Given the description of an element on the screen output the (x, y) to click on. 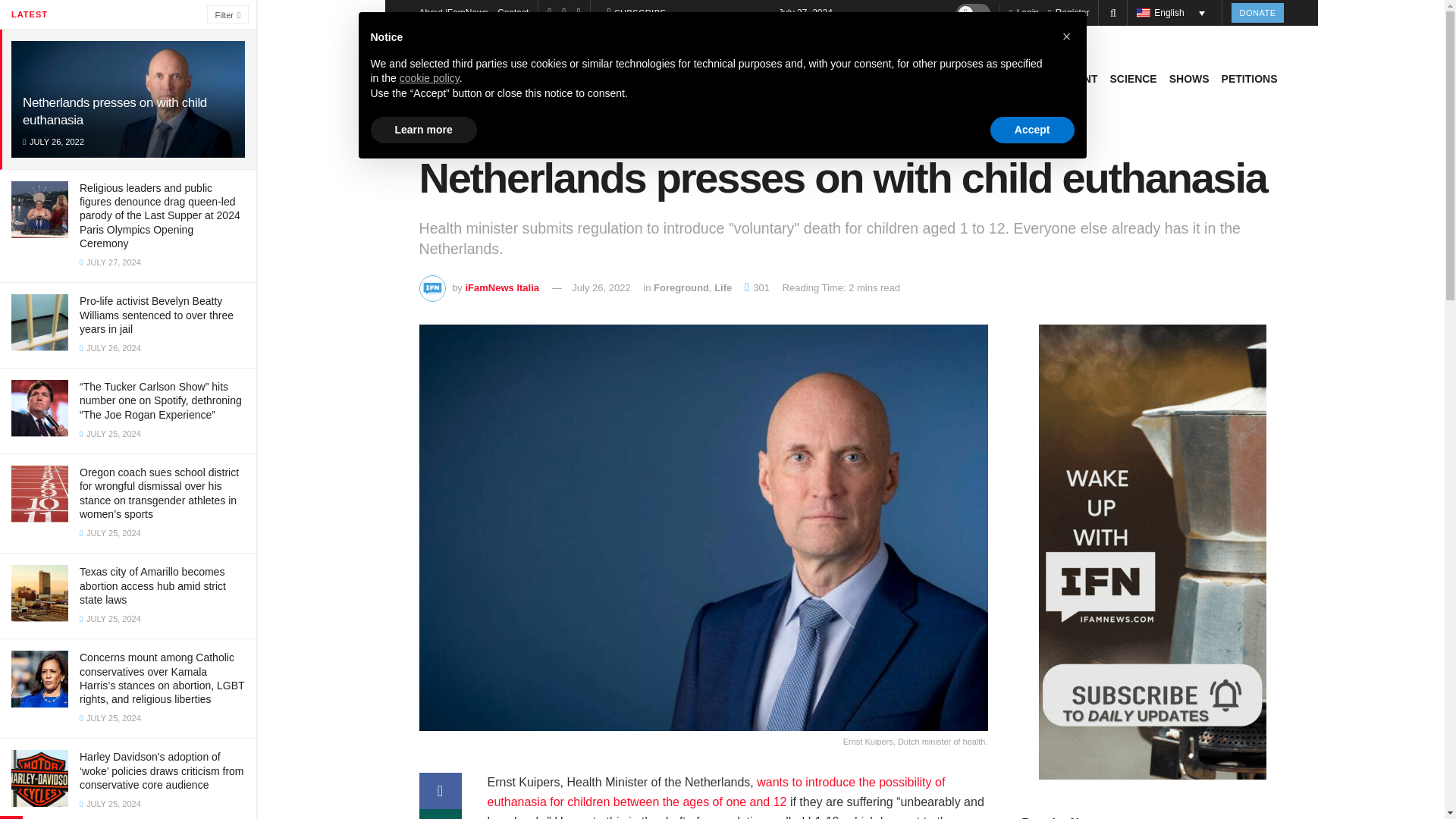
About iFamNews (453, 12)
Netherlands presses on with child euthanasia (114, 111)
SUBSCRIBE (636, 12)
Register (1068, 12)
English (1174, 13)
Login (1024, 12)
Contact (512, 12)
Filter (227, 13)
